Given the description of an element on the screen output the (x, y) to click on. 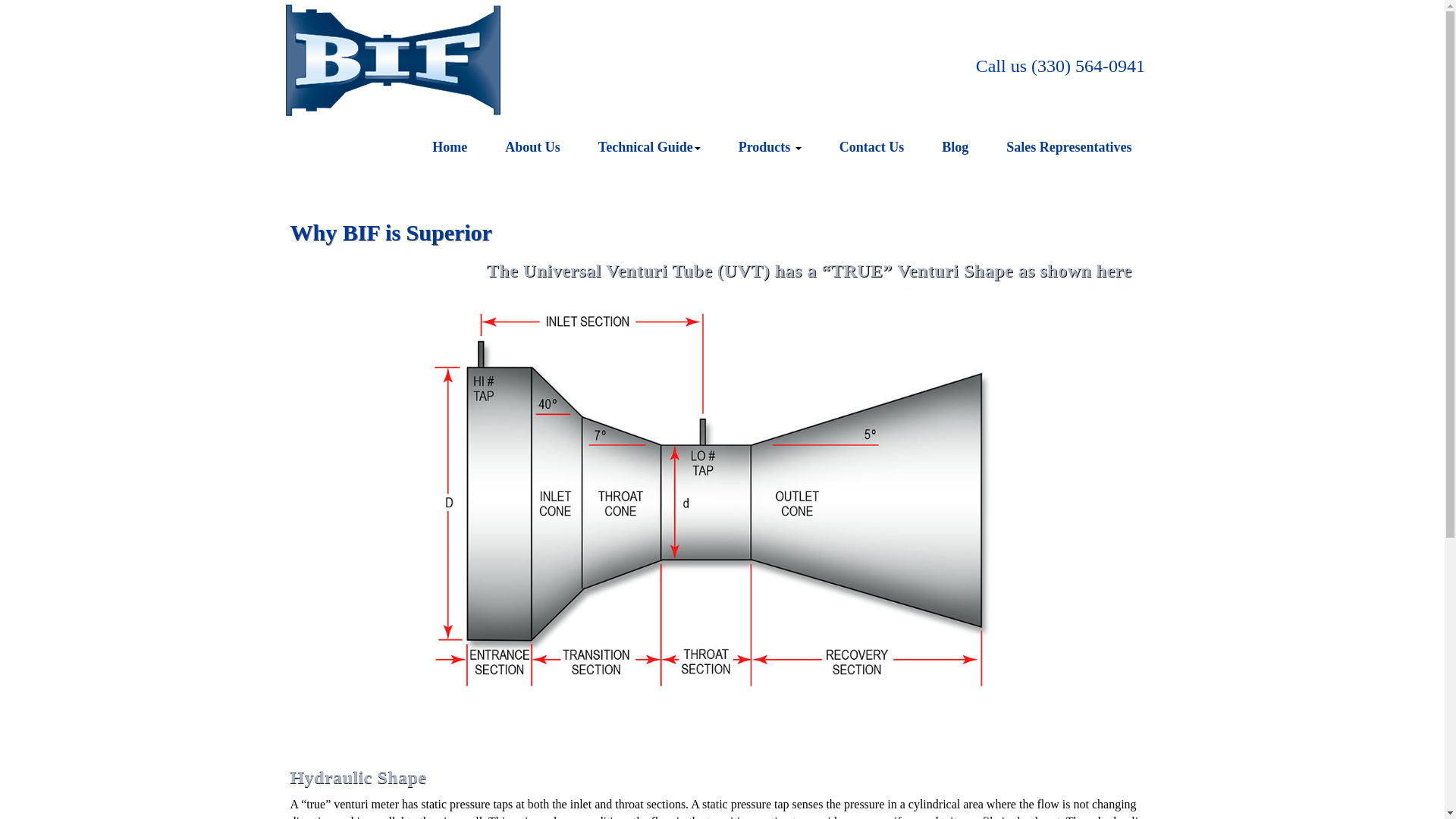
Contact Us (872, 146)
Home (449, 146)
Technical Guide (649, 146)
Products (770, 146)
About Us (532, 146)
Sales Representatives (1068, 146)
